Given the description of an element on the screen output the (x, y) to click on. 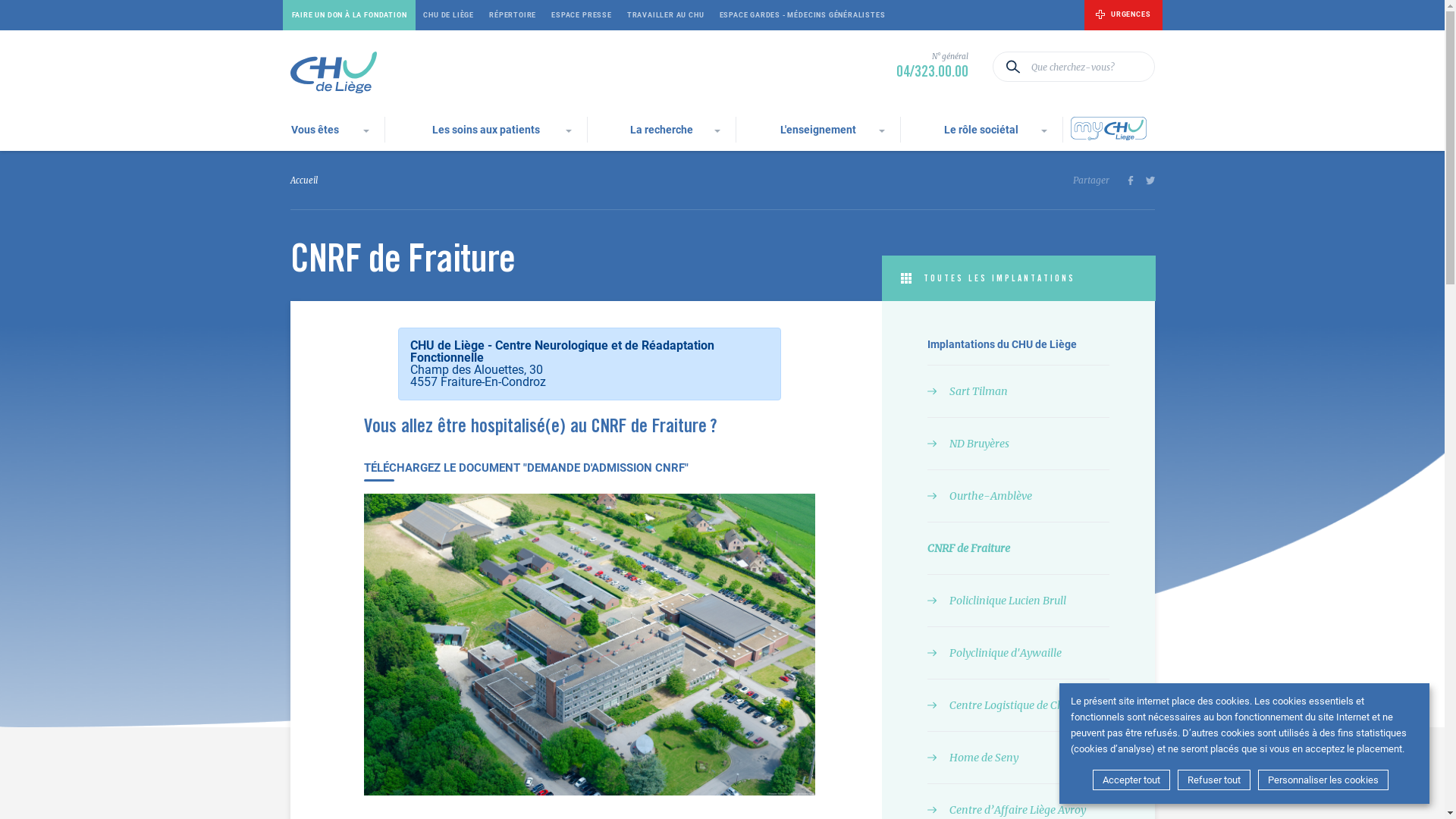
Sart Tilman Element type: text (1017, 391)
Policlinique Lucien Brull Element type: text (1017, 600)
04/323.00.00 Element type: text (932, 72)
Polyclinique d'Aywaille Element type: text (1017, 653)
TRAVAILLER AU CHU Element type: text (665, 15)
Personnaliser les cookies Element type: text (1323, 779)
GLE 1797 DxO Element type: hover (589, 643)
Les soins aux patients Element type: text (485, 129)
Refuser tout Element type: text (1213, 779)
TOUTES LES IMPLANTATIONS Element type: text (1017, 278)
Accueil Element type: text (302, 180)
URGENCES Element type: text (1122, 15)
ESPACE PRESSE Element type: text (581, 15)
La recherche Element type: text (661, 129)
Accepter tout Element type: text (1131, 779)
Home de Seny Element type: text (1017, 757)
CNRF de Fraiture Element type: text (1017, 548)
L'enseignement Element type: text (818, 129)
